Given the description of an element on the screen output the (x, y) to click on. 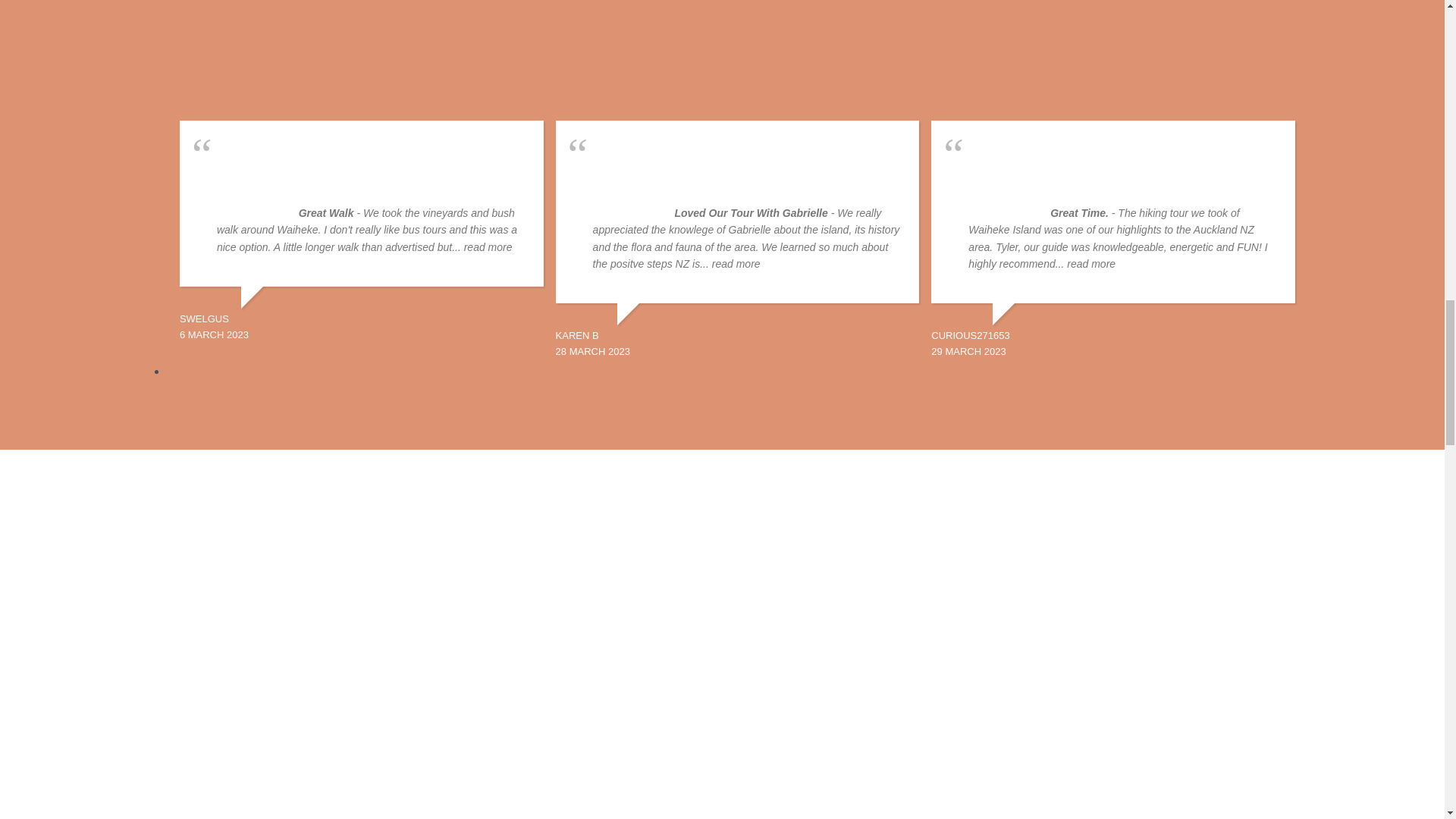
... read more (481, 246)
... read more (1085, 263)
... read more (730, 263)
